Given the description of an element on the screen output the (x, y) to click on. 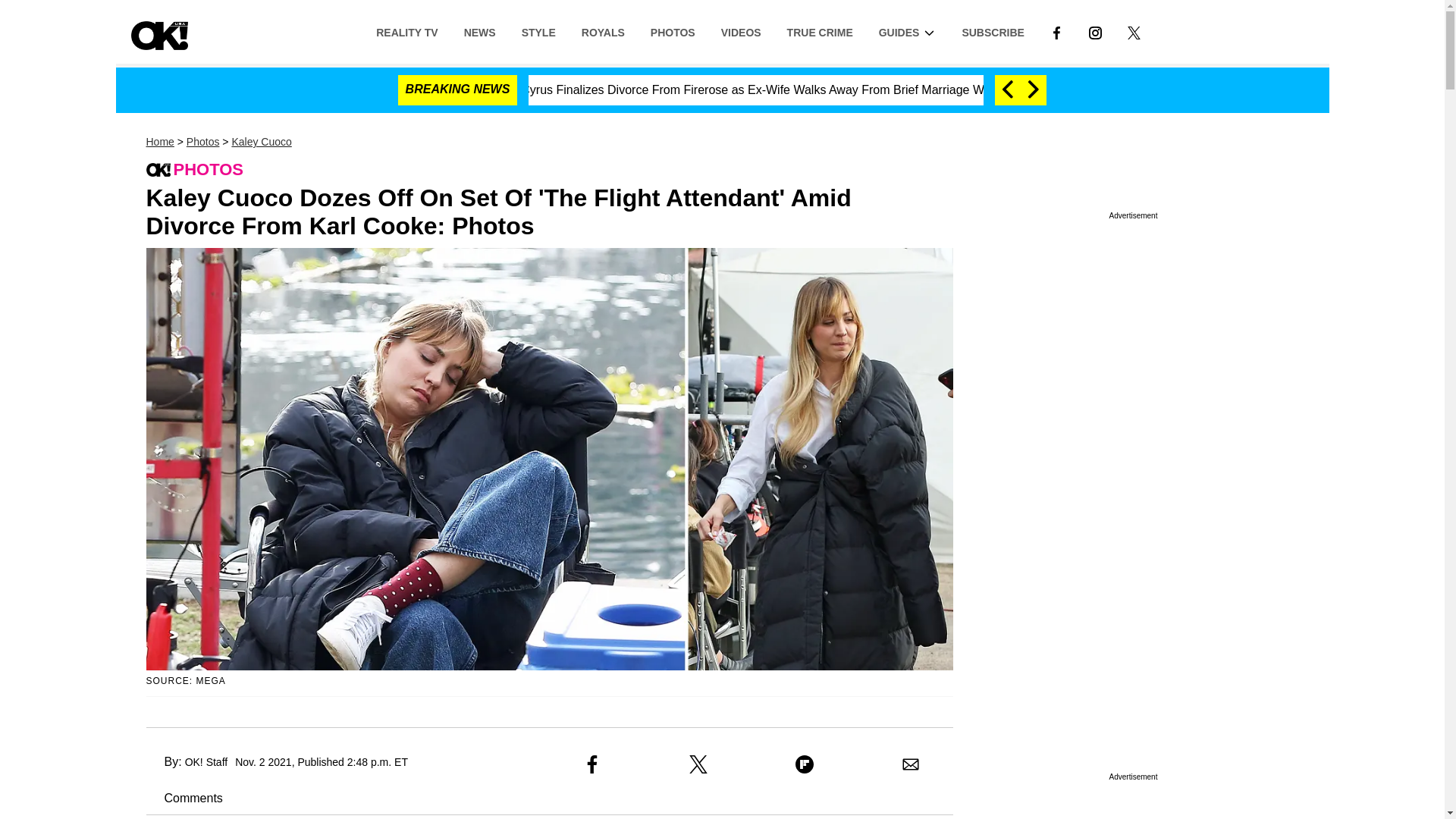
LINK TO FACEBOOK (1055, 31)
NEWS (479, 31)
PHOTOS (672, 31)
VIDEOS (740, 31)
LINK TO INSTAGRAM (1095, 32)
Home (159, 141)
Kaley Cuoco (261, 141)
Photos (202, 141)
LINK TO INSTAGRAM (1095, 31)
LINK TO FACEBOOK (1055, 32)
